Given the description of an element on the screen output the (x, y) to click on. 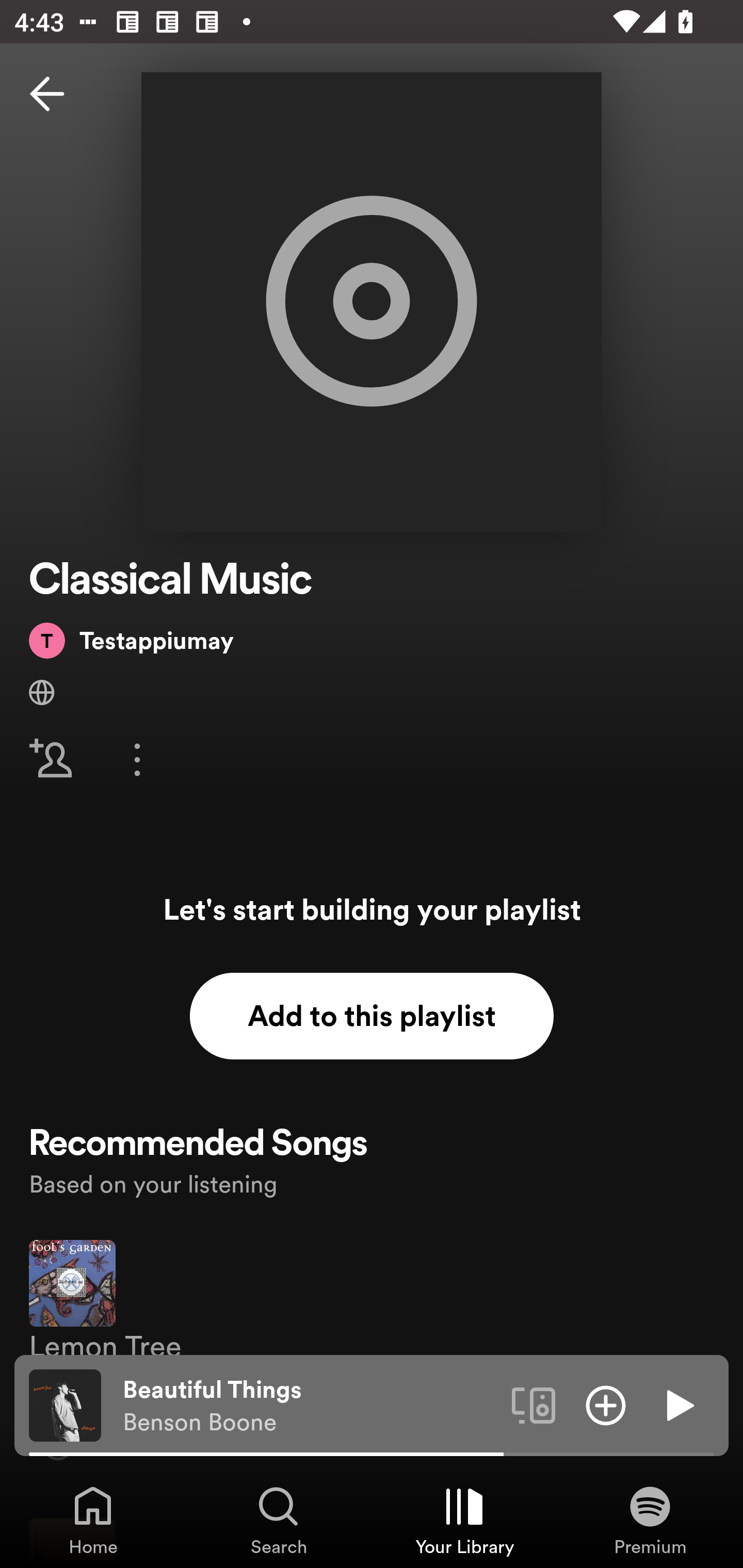
Back (46, 93)
Testappiumay (131, 640)
Invite Friends for playlist (50, 759)
More options for playlist Classical Music (136, 759)
Add to this playlist (371, 1015)
Beautiful Things Benson Boone (309, 1405)
The cover art of the currently playing track (64, 1404)
Connect to a device. Opens the devices menu (533, 1404)
Add item (605, 1404)
Play (677, 1404)
Home, Tab 1 of 4 Home Home (92, 1519)
Search, Tab 2 of 4 Search Search (278, 1519)
Your Library, Tab 3 of 4 Your Library Your Library (464, 1519)
Premium, Tab 4 of 4 Premium Premium (650, 1519)
